Given the description of an element on the screen output the (x, y) to click on. 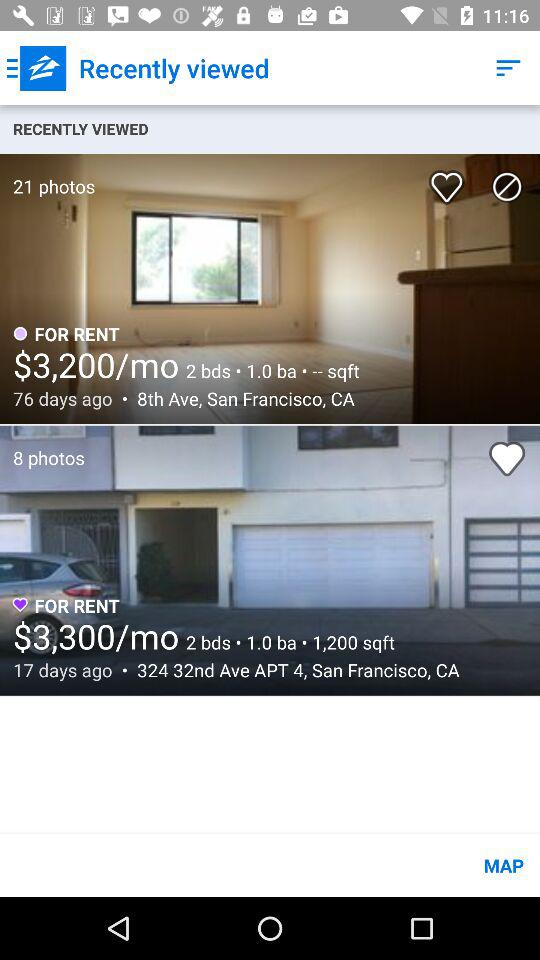
flip until 21 photos (47, 176)
